Given the description of an element on the screen output the (x, y) to click on. 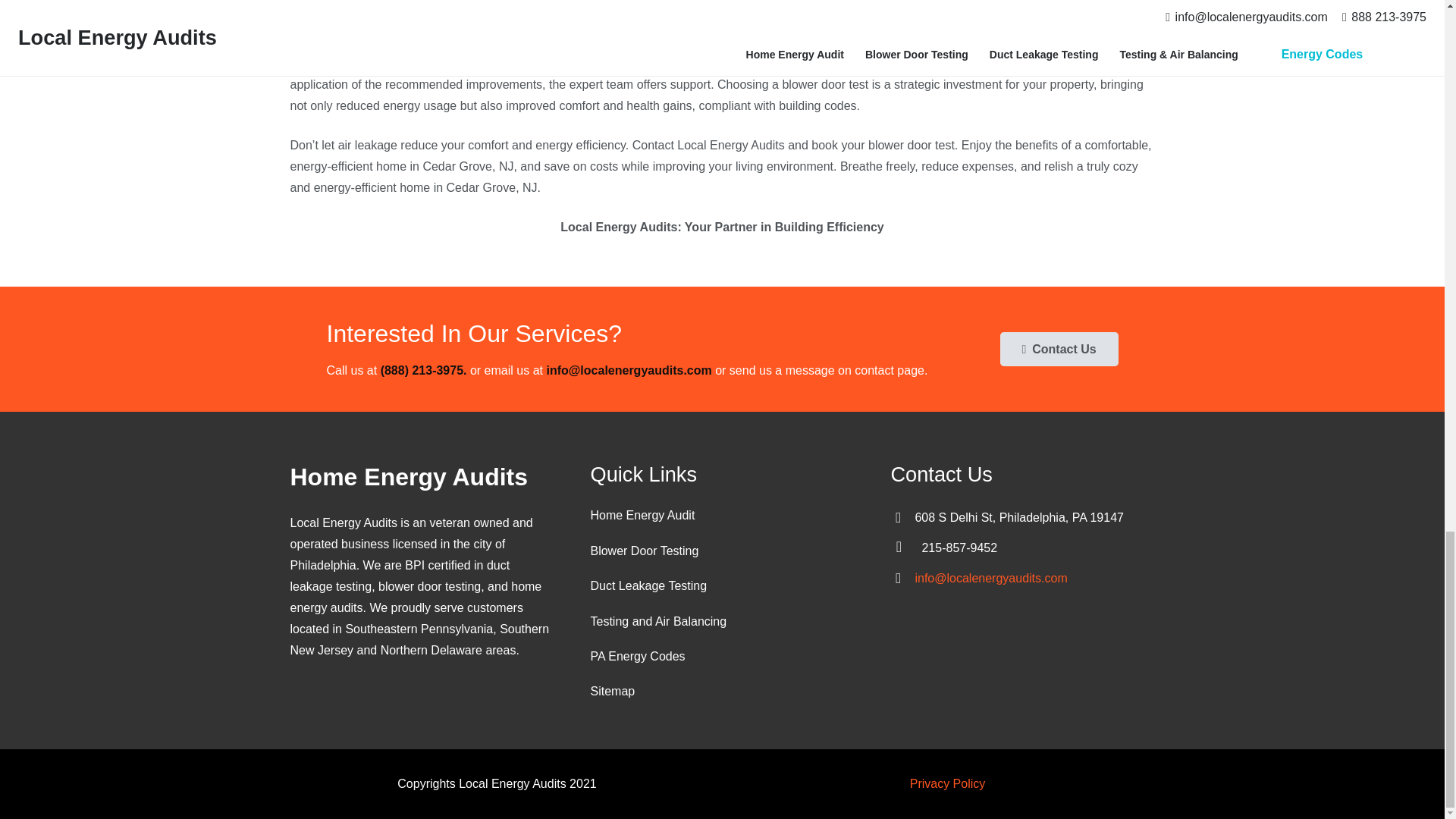
Home Energy Audit (641, 514)
PA Energy Codes (636, 656)
Testing and Air Balancing (657, 621)
Duct Leakage Testing (647, 585)
Contact Us (1059, 349)
Blower Door Testing (643, 550)
Contact Us (1059, 349)
